Given the description of an element on the screen output the (x, y) to click on. 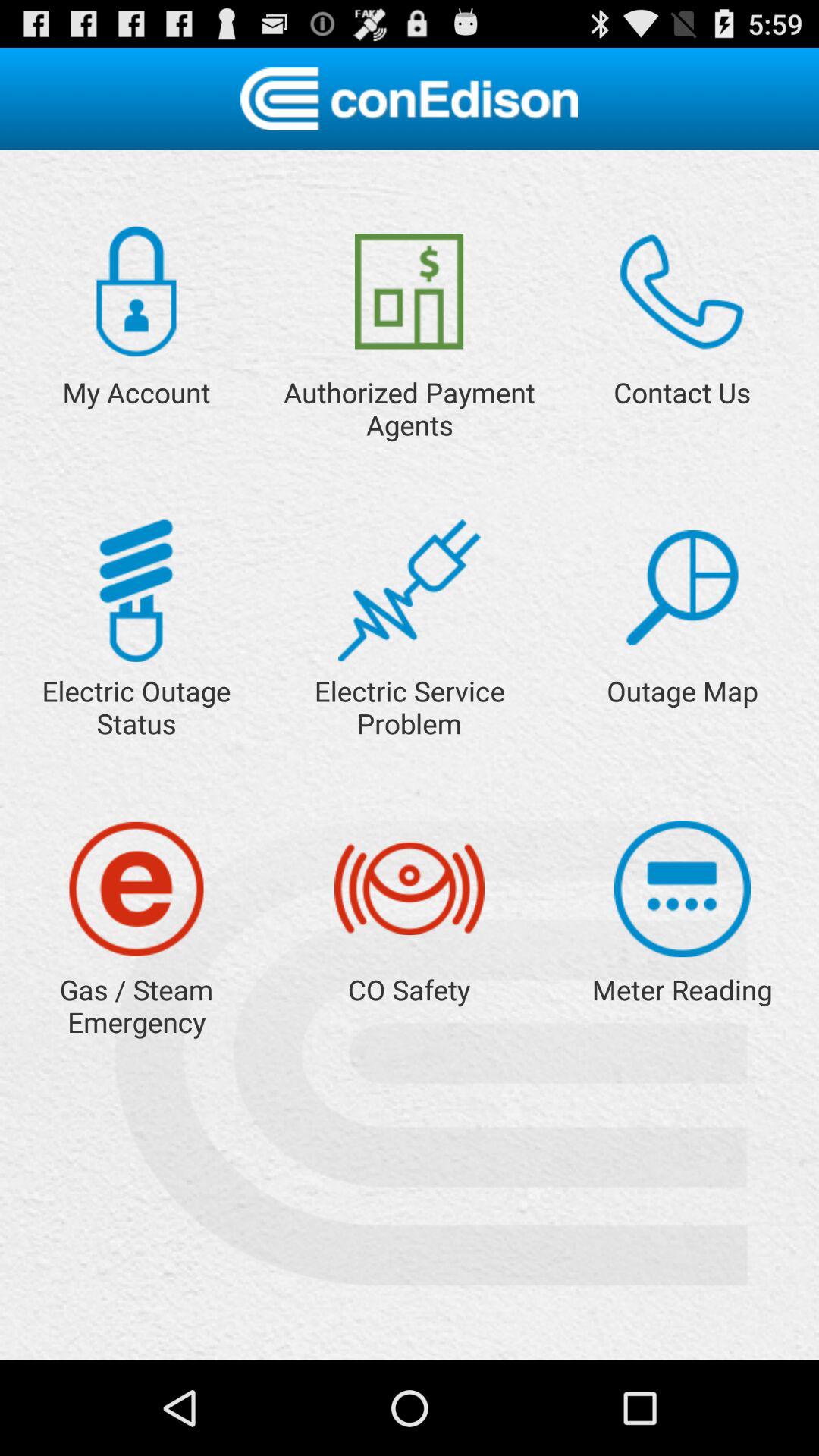
open the app next to contact us item (408, 291)
